Given the description of an element on the screen output the (x, y) to click on. 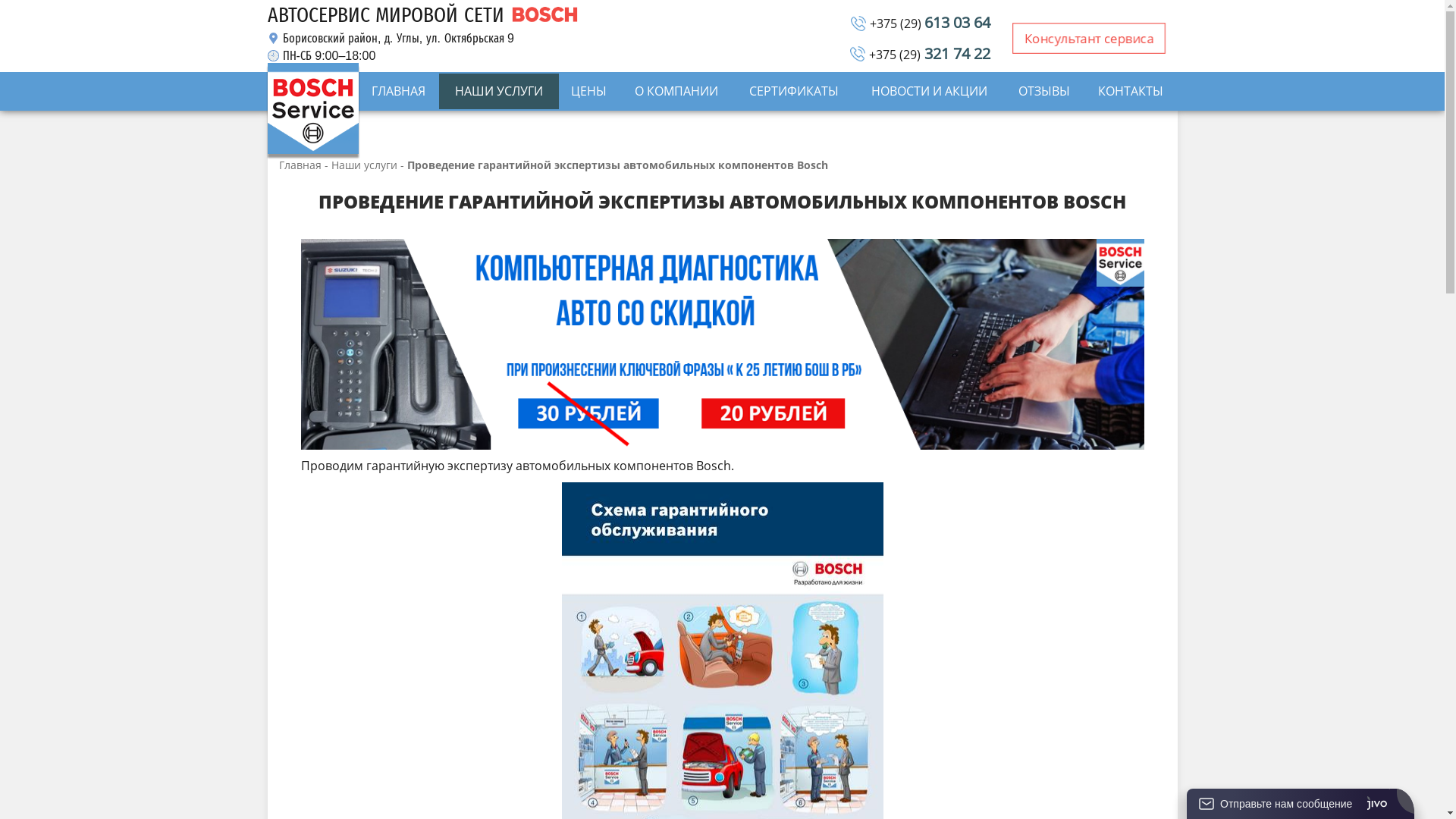
+375 (29) 613 03 64 Element type: text (929, 23)
+375 (29) 321 74 22 Element type: text (929, 54)
